Given the description of an element on the screen output the (x, y) to click on. 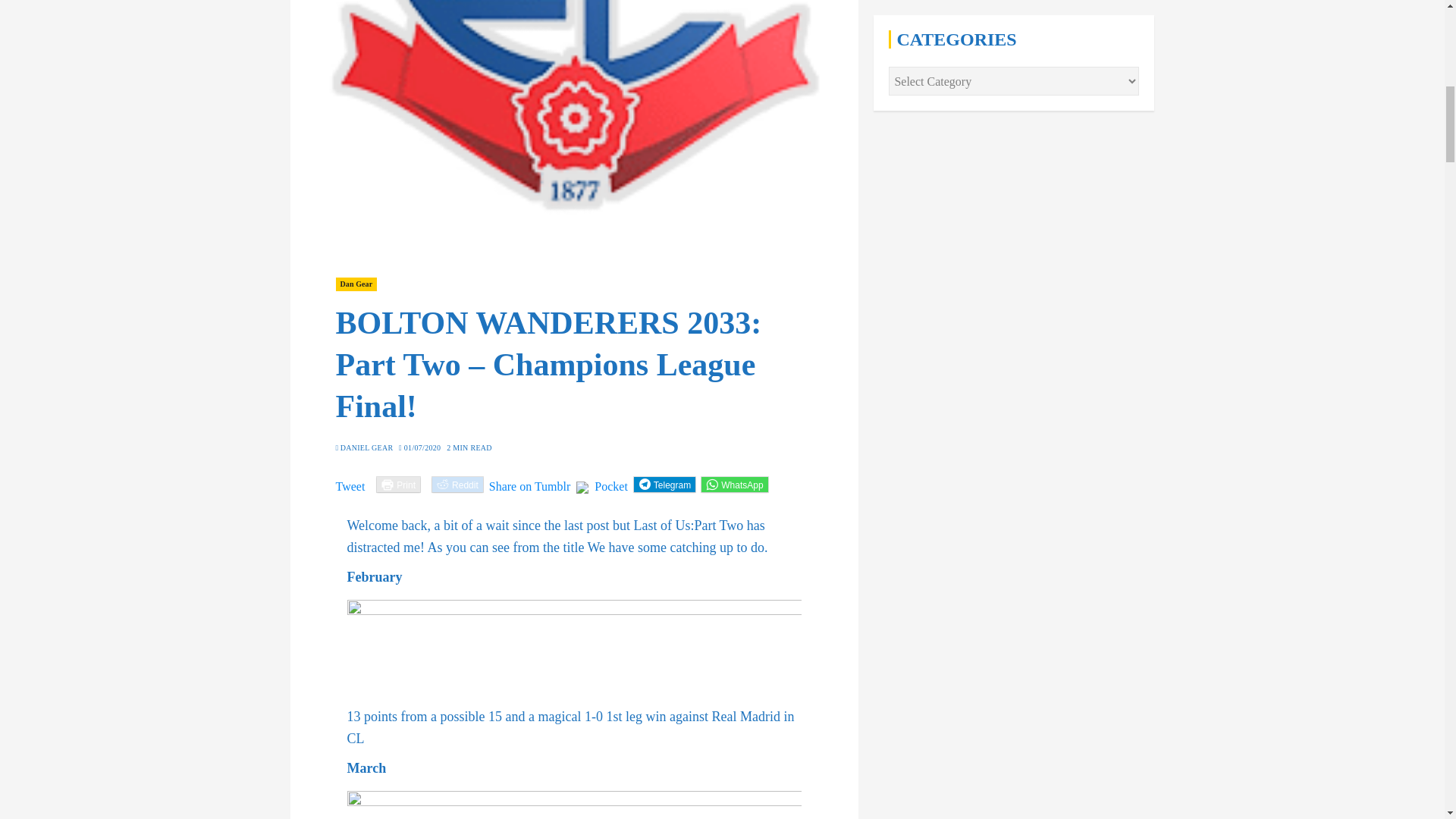
Share on Tumblr (529, 483)
Click to share on WhatsApp (734, 484)
Print (398, 484)
Pocket (610, 486)
Click to share on Telegram (664, 484)
DANIEL GEAR (366, 448)
Reddit (457, 484)
Dan Gear (355, 284)
Telegram (664, 484)
Tweet (349, 483)
